Given the description of an element on the screen output the (x, y) to click on. 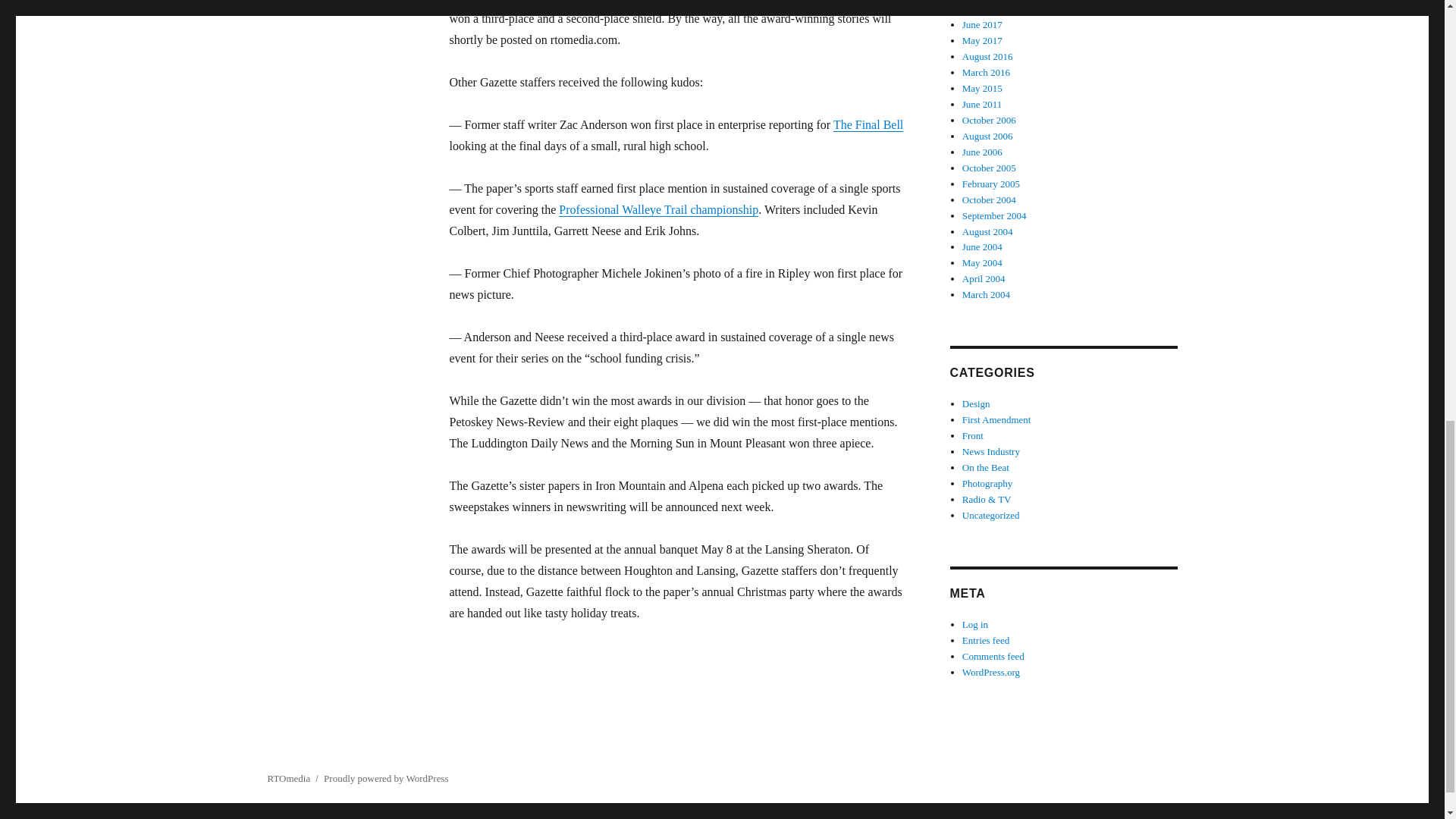
First Amendment (996, 419)
September 2004 (994, 215)
August 2016 (987, 56)
May 2017 (982, 40)
August 2004 (987, 231)
The Final Bell (867, 124)
Design (976, 403)
Photography (986, 482)
June 2004 (982, 246)
Front (973, 435)
